Given the description of an element on the screen output the (x, y) to click on. 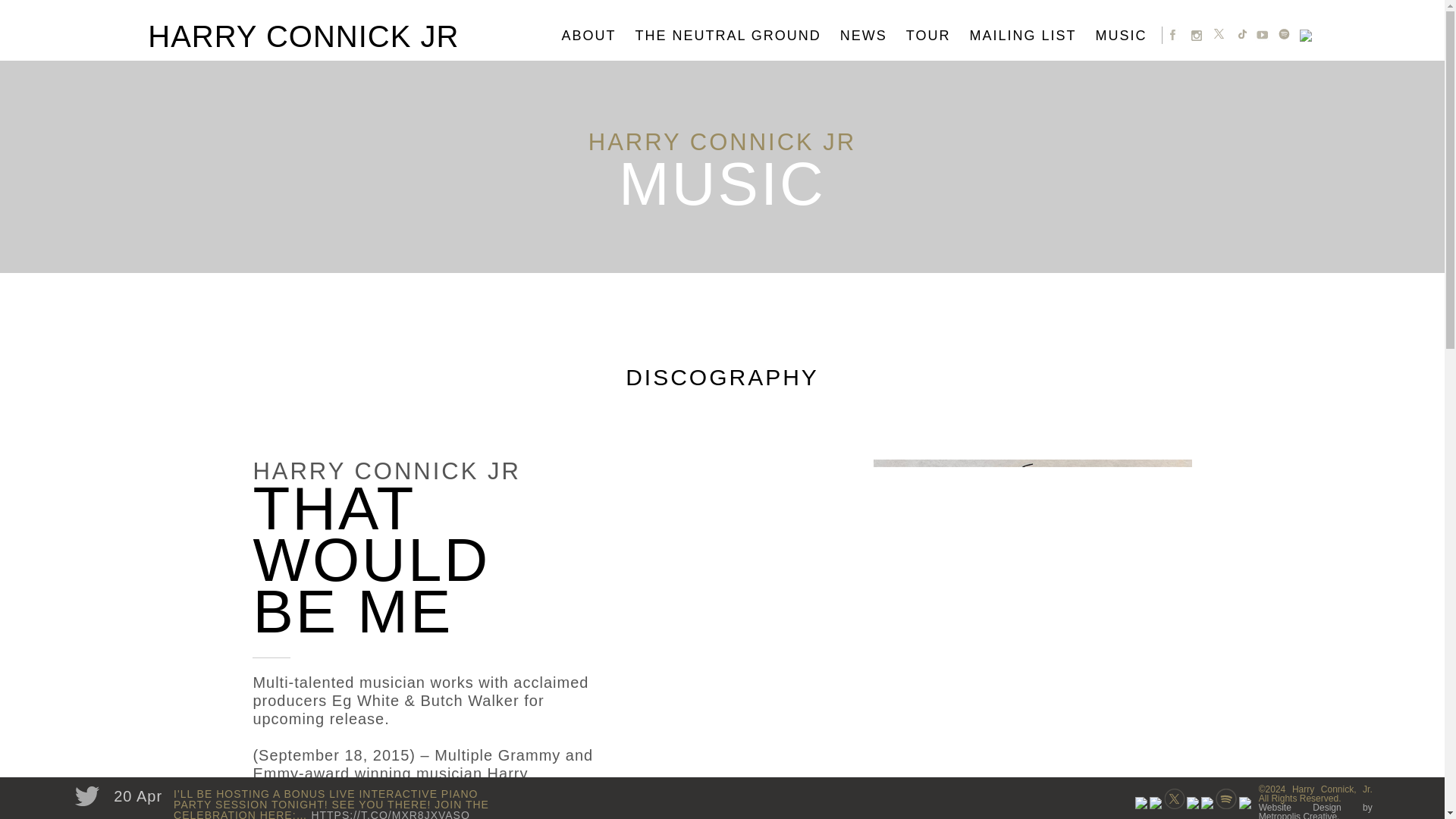
MUSIC (1127, 35)
Home page (276, 579)
ABOUT (595, 35)
MAILING LIST (1029, 35)
NEWS (871, 35)
TOUR (935, 35)
HARRY CONNICK JR (303, 36)
HARRY CONNICK JR. - OFFICIAL SITE (276, 579)
THE NEUTRAL GROUND (734, 35)
